Given the description of an element on the screen output the (x, y) to click on. 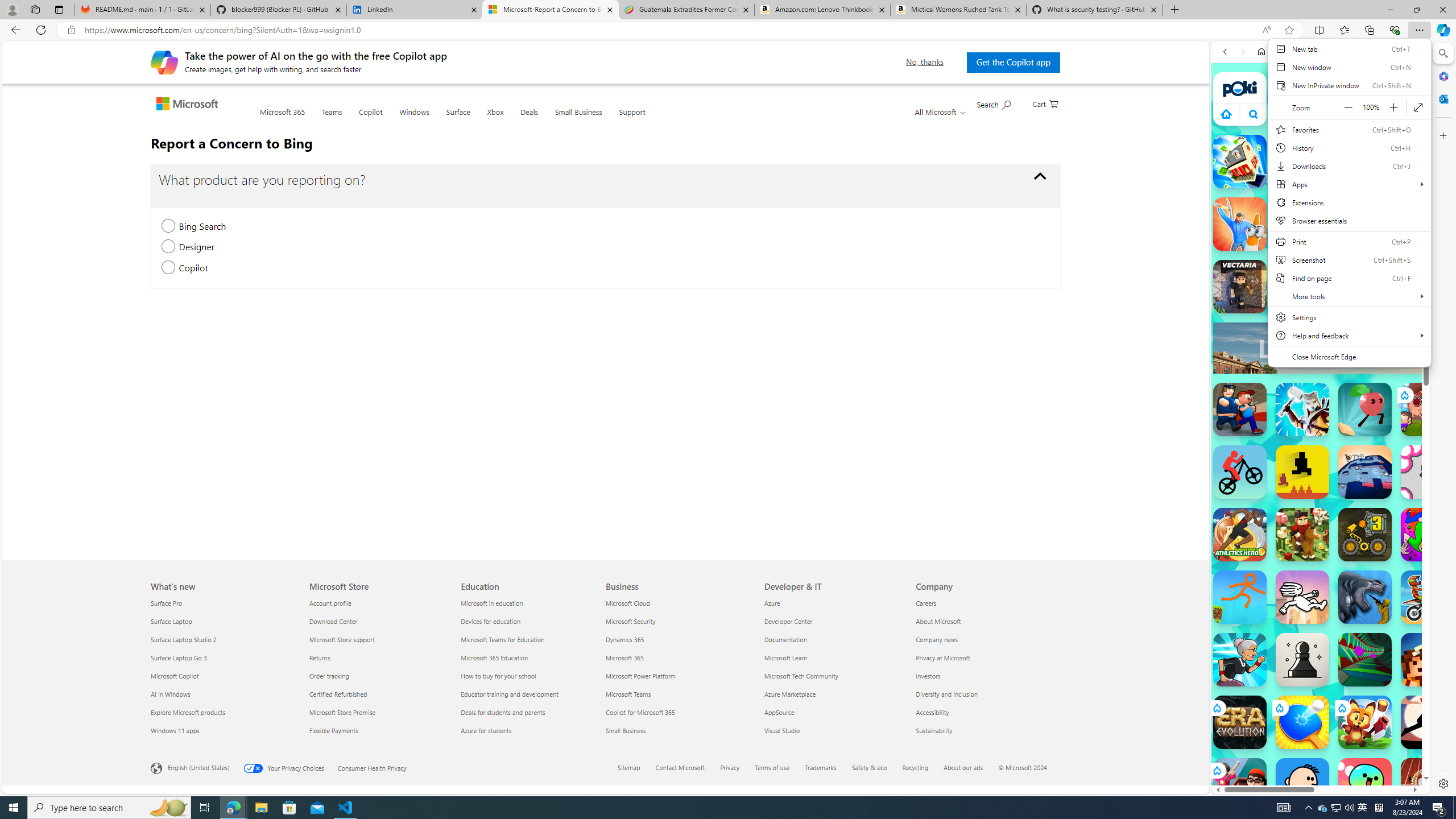
Vectaria.io Vectaria.io (1239, 286)
Get the Copilot app  (1012, 61)
Microsoft 365 Education (529, 657)
Microsoft Teams (678, 693)
Athletics Hero Athletics Hero (1239, 534)
Sitemap (635, 768)
Help and feedback (1349, 335)
Order tracking Microsoft Store (328, 675)
Angry Gran Run Angry Gran Run (1239, 659)
Diversity and inclusion Company (946, 693)
Escape From School Escape From School (1239, 409)
